Given the description of an element on the screen output the (x, y) to click on. 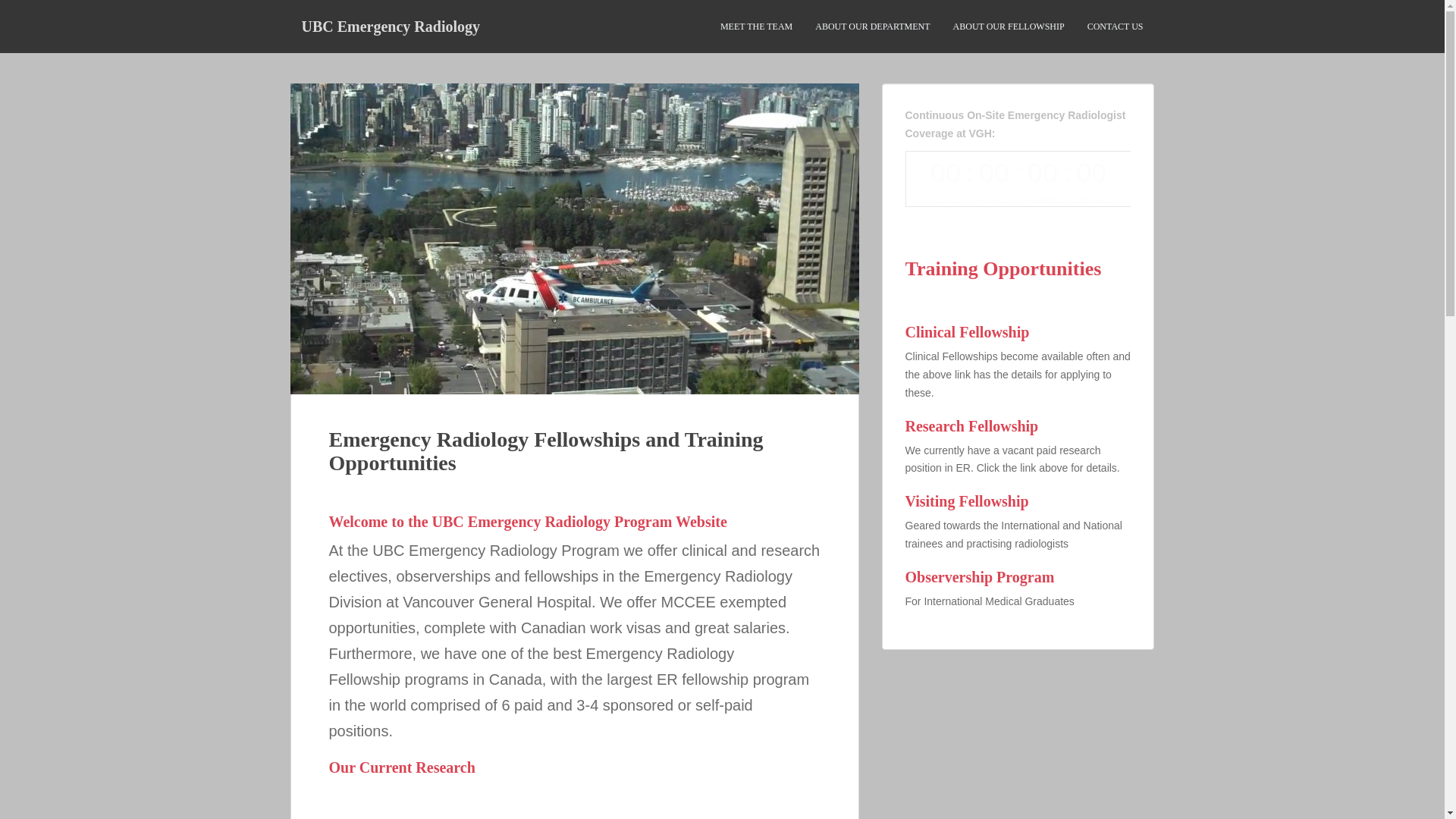
Research Fellowship (1018, 452)
Observership Program (1018, 603)
CONTACT US (1114, 26)
MEET THE TEAM (756, 26)
UBC Emergency Radiology (390, 26)
UBC Emergency Radiology (390, 26)
ABOUT OUR FELLOWSHIP (1008, 26)
Visiting Fellowship (1018, 527)
ABOUT OUR DEPARTMENT (872, 26)
Clinical Fellowship (1018, 342)
